Given the description of an element on the screen output the (x, y) to click on. 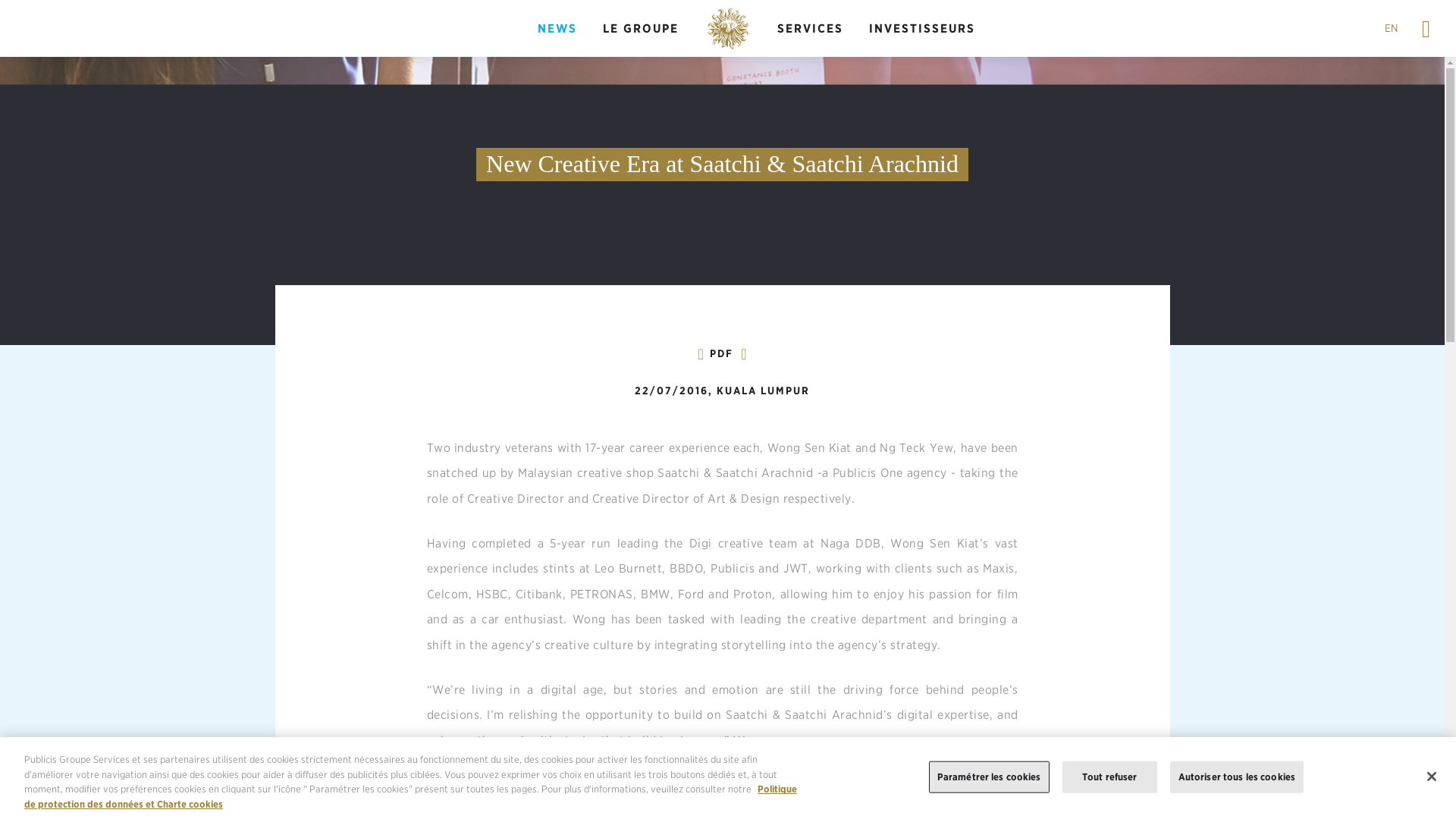
PDF (721, 352)
SERVICES (809, 28)
EN (1390, 28)
INVESTISSEURS (922, 28)
NEWS (556, 28)
LE GROUPE (640, 28)
